Given the description of an element on the screen output the (x, y) to click on. 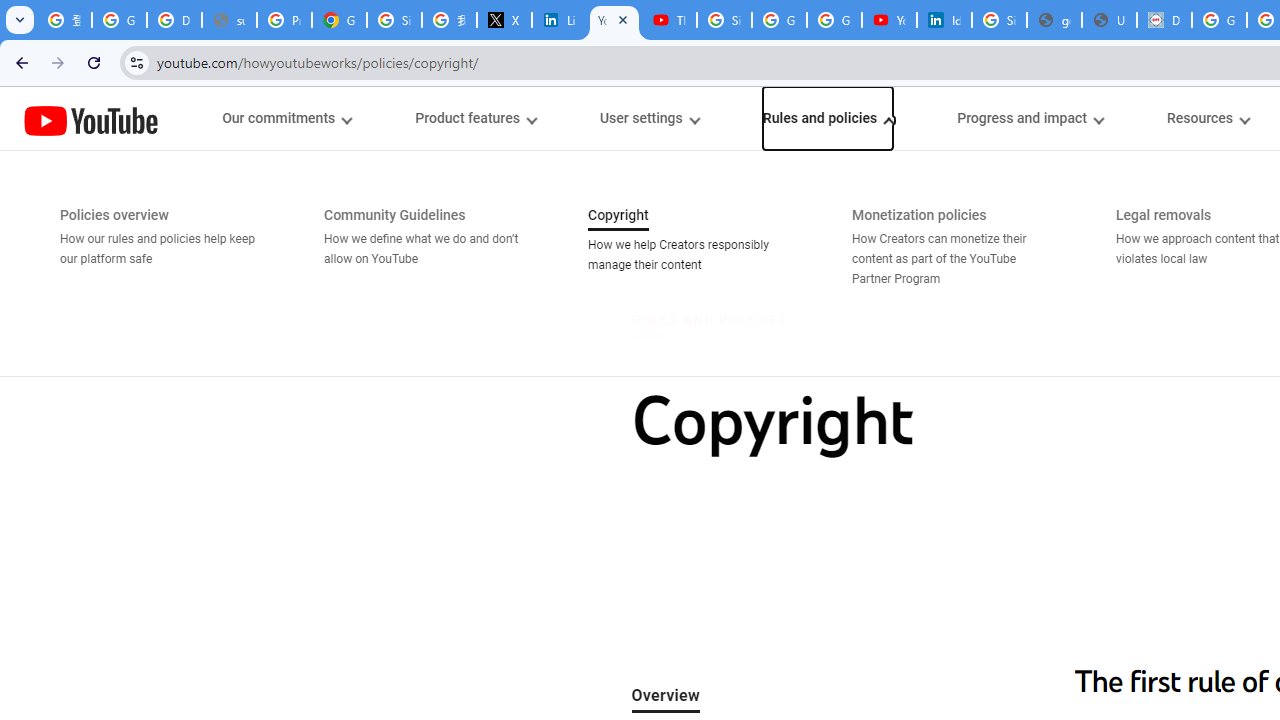
User Details (1108, 20)
Privacy Help Center - Policies Help (284, 20)
Sign in - Google Accounts (394, 20)
Resources menupopup (1208, 118)
